Given the description of an element on the screen output the (x, y) to click on. 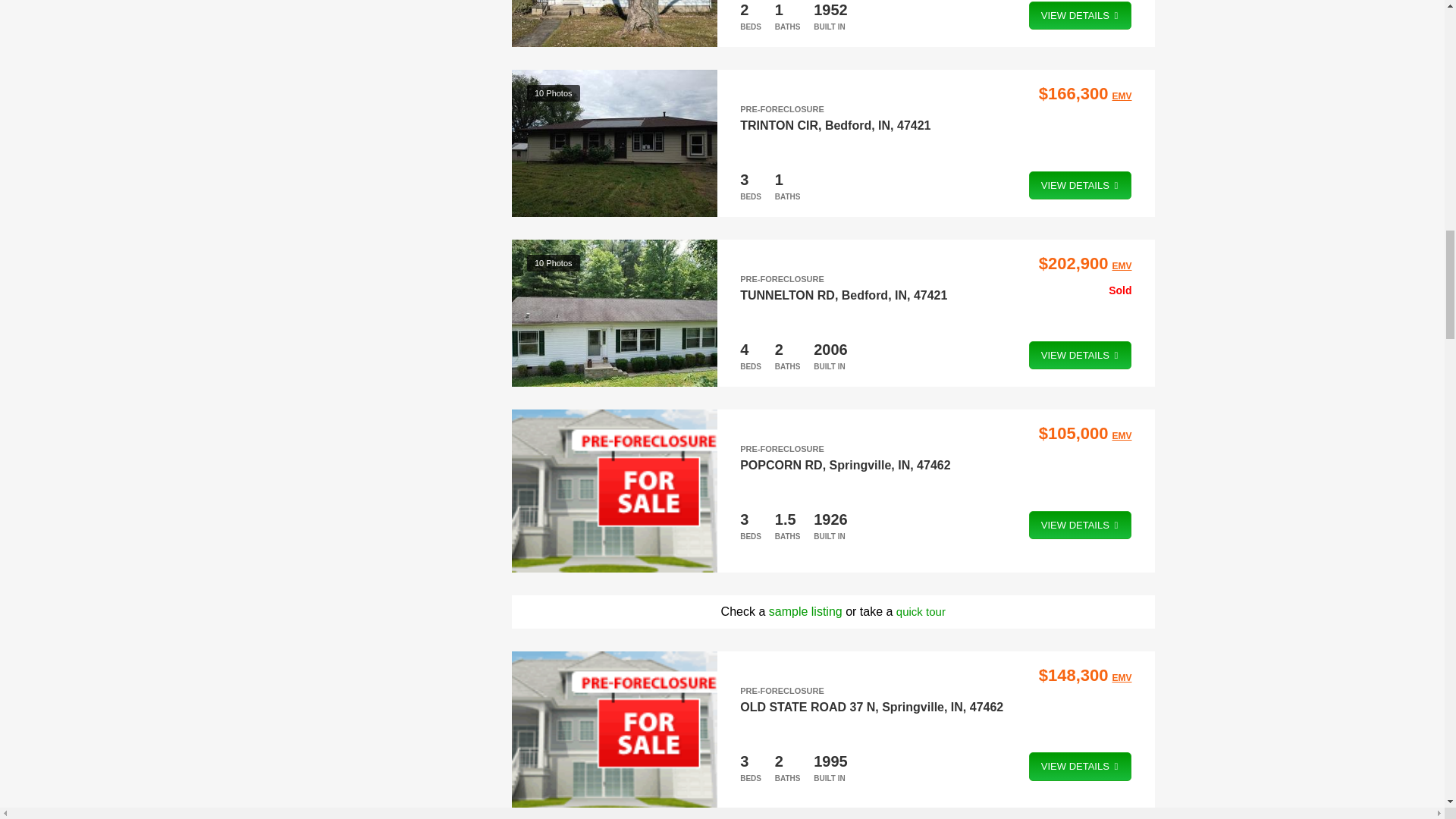
5 Photos (614, 23)
Sample Listing (805, 611)
VIEW DETAILS (1080, 185)
TRINTON CIR (778, 124)
VIEW DETAILS (1080, 15)
10 Photos (614, 143)
